Given the description of an element on the screen output the (x, y) to click on. 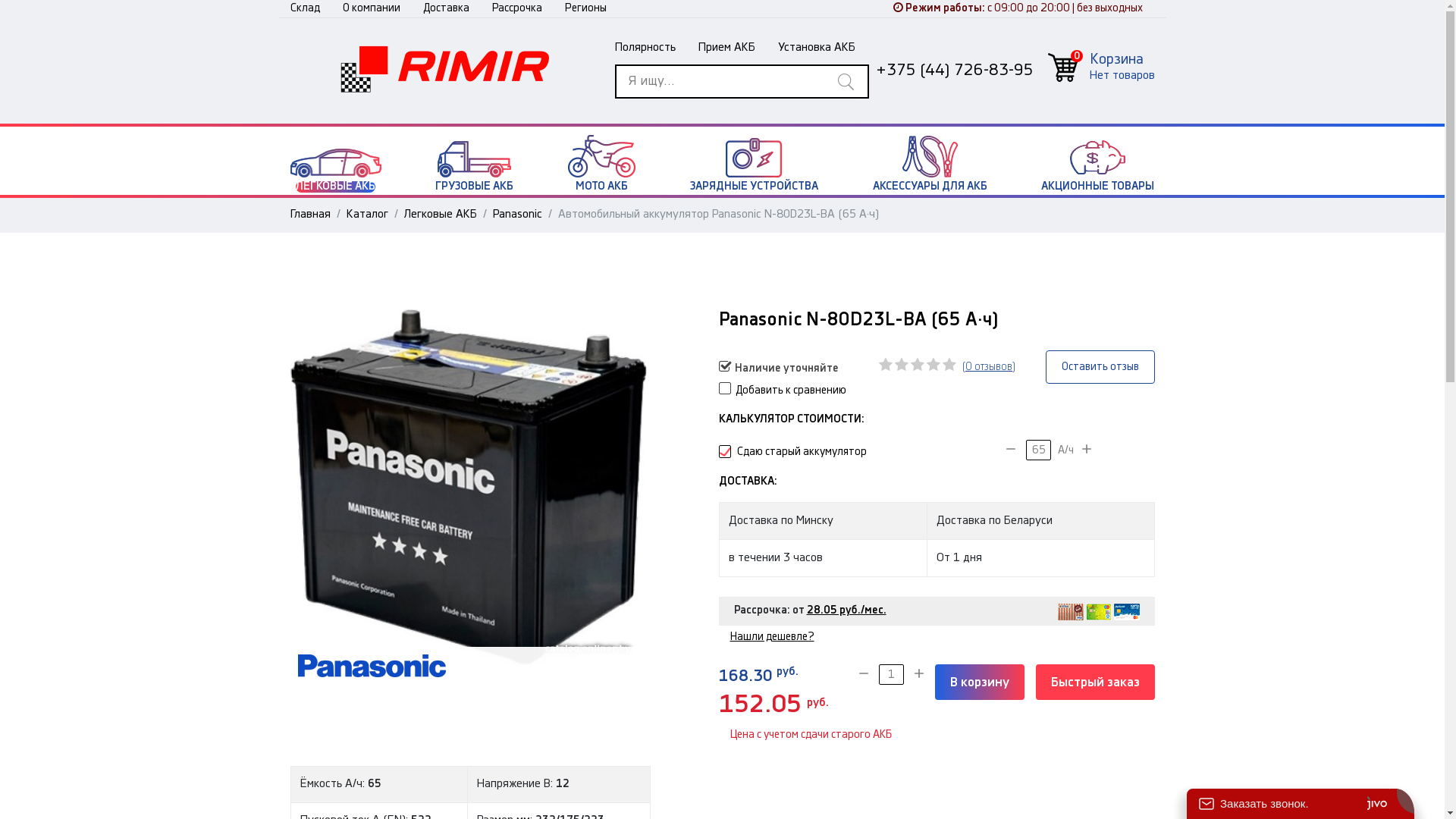
Panasonic Element type: text (517, 213)
+375 (44) 726-83-95 Element type: text (953, 69)
